Given the description of an element on the screen output the (x, y) to click on. 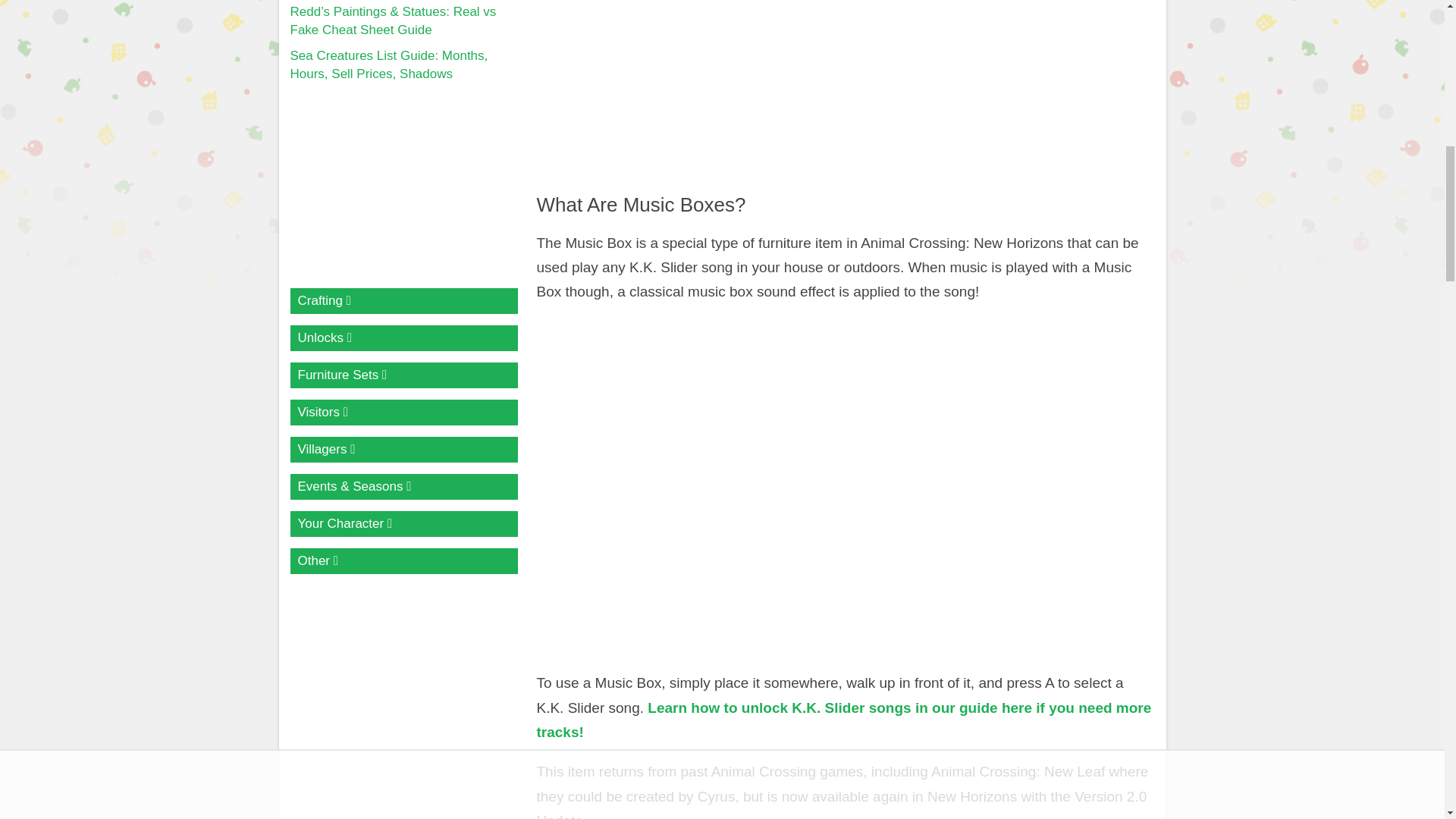
Unlocks (402, 338)
Crafting (402, 300)
